Given the description of an element on the screen output the (x, y) to click on. 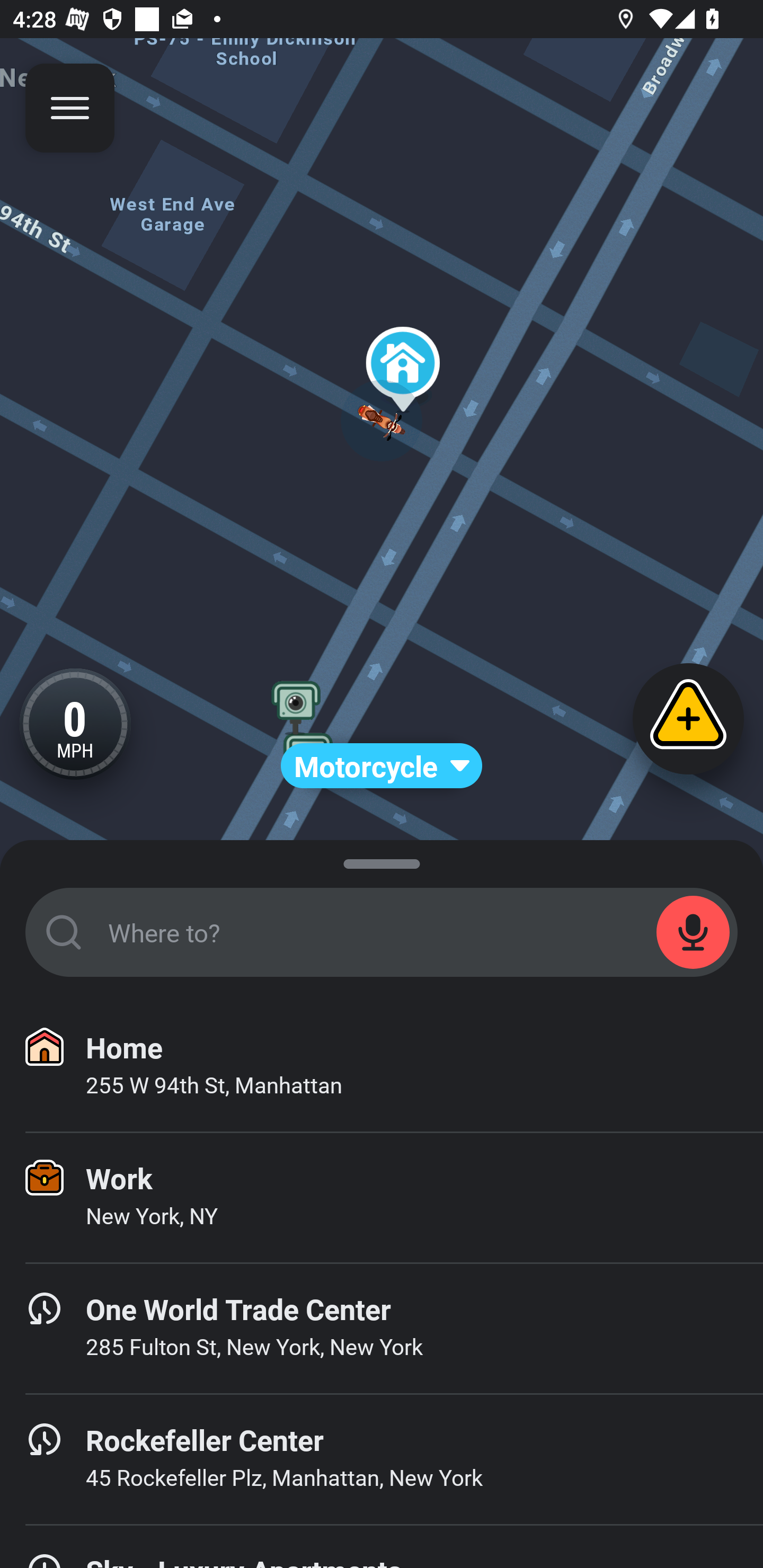
Motorcycle (381, 765)
SUGGESTIONS_SHEET_DRAG_HANDLE (381, 860)
START_STATE_SEARCH_FIELD Where to? (381, 931)
Home 255 W 94th St, Manhattan (381, 1066)
Work New York, NY (381, 1197)
